Given the description of an element on the screen output the (x, y) to click on. 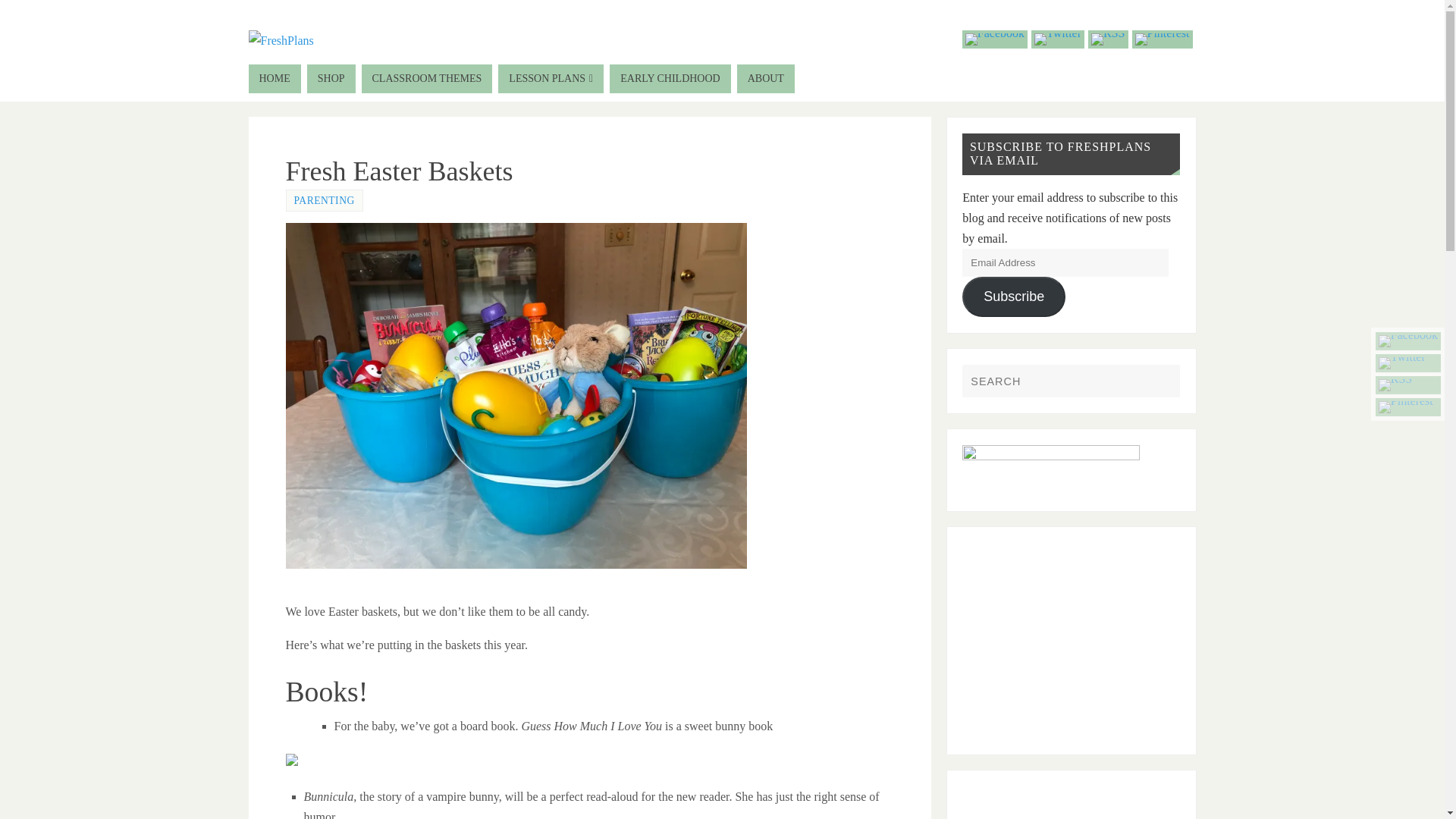
HOME (274, 78)
PARENTING (324, 200)
Pinterest (1408, 407)
Pinterest (1161, 39)
Twitter (1057, 39)
RSS (1106, 39)
Twitter (1408, 362)
FreshPlans (281, 40)
LESSON PLANS (550, 78)
ABOUT (765, 78)
